Given the description of an element on the screen output the (x, y) to click on. 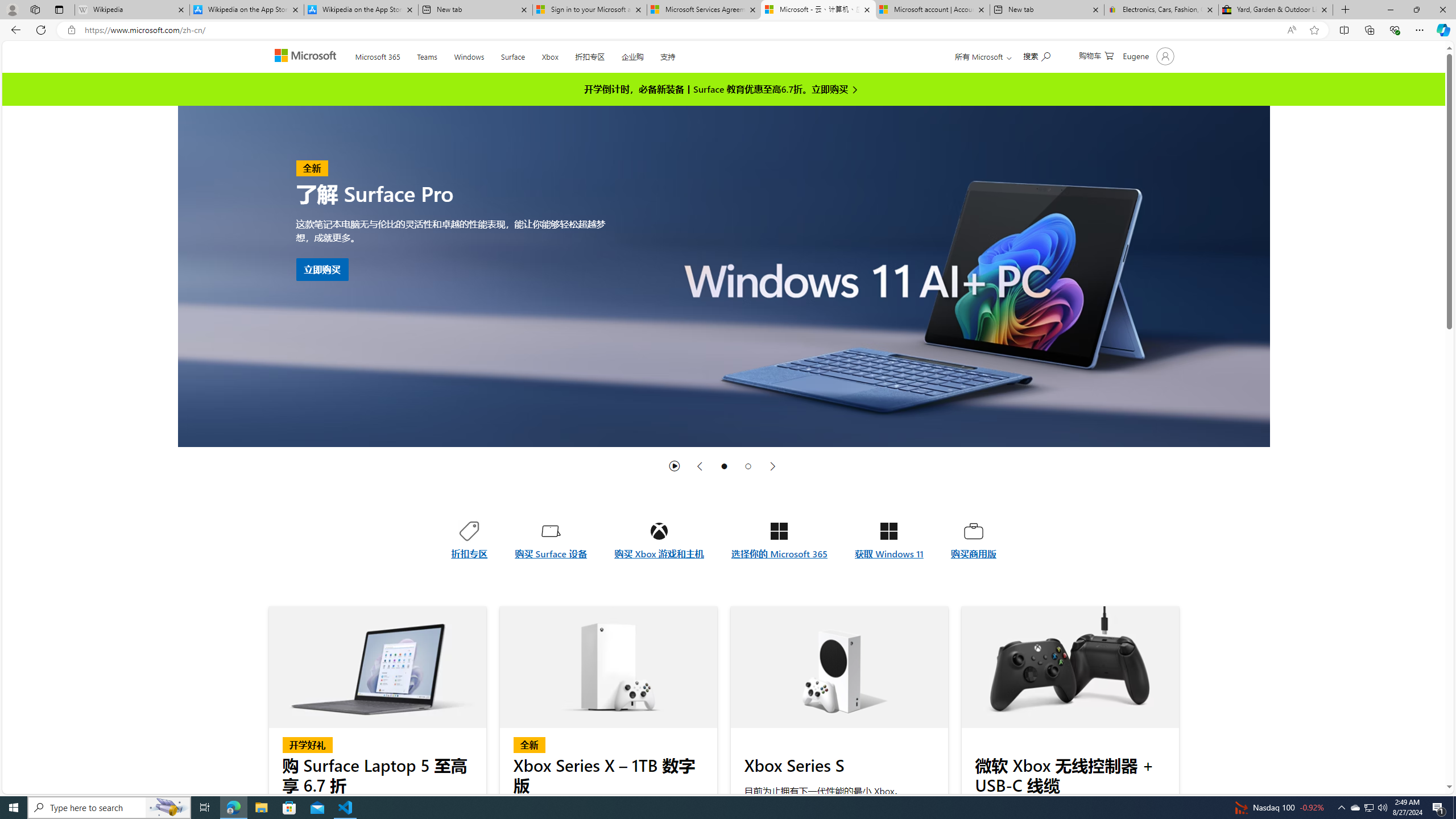
Windows (468, 54)
App bar (728, 29)
Sign in to your Microsoft account (589, 9)
Teams (426, 54)
Teams (427, 54)
